Given the description of an element on the screen output the (x, y) to click on. 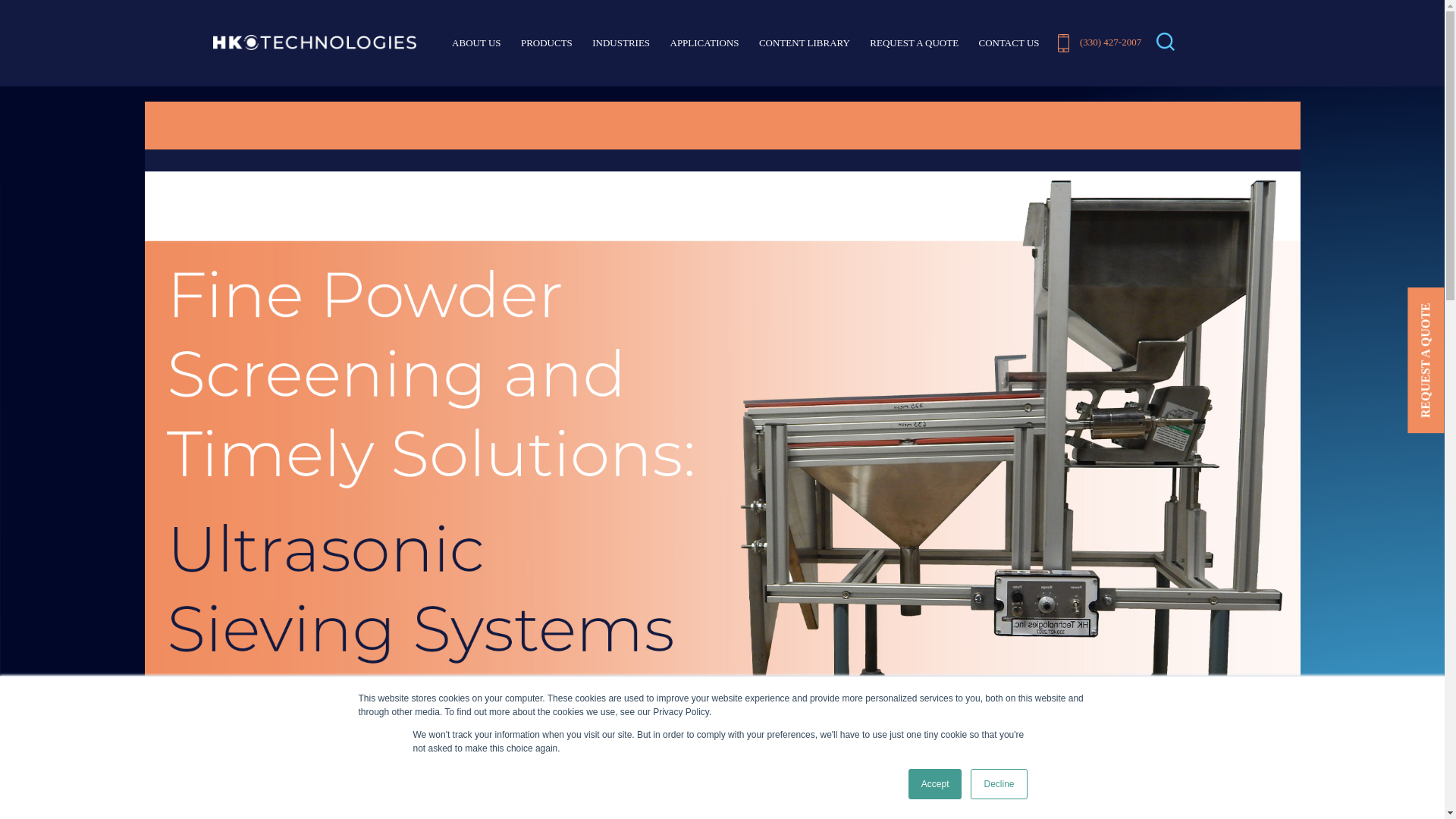
ABOUT US (475, 43)
Accept (935, 784)
Decline (998, 784)
PRODUCTS (546, 43)
